Given the description of an element on the screen output the (x, y) to click on. 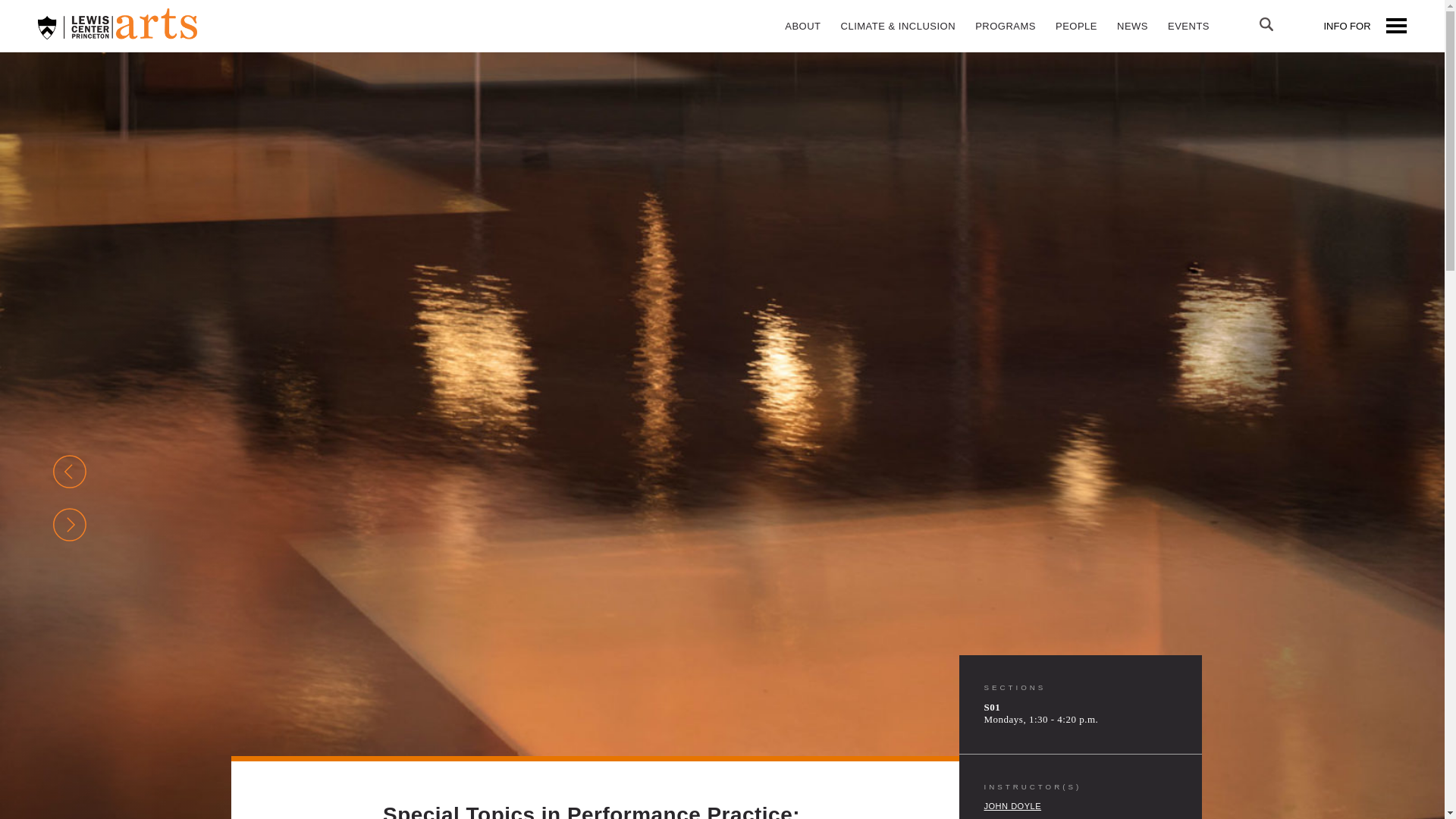
PEOPLE (1075, 26)
PROGRAMS (1005, 26)
ABOUT (801, 26)
NEWS (1131, 26)
Skip to Content (41, 13)
INFO FOR (1361, 25)
EVENTS (1188, 26)
